Given the description of an element on the screen output the (x, y) to click on. 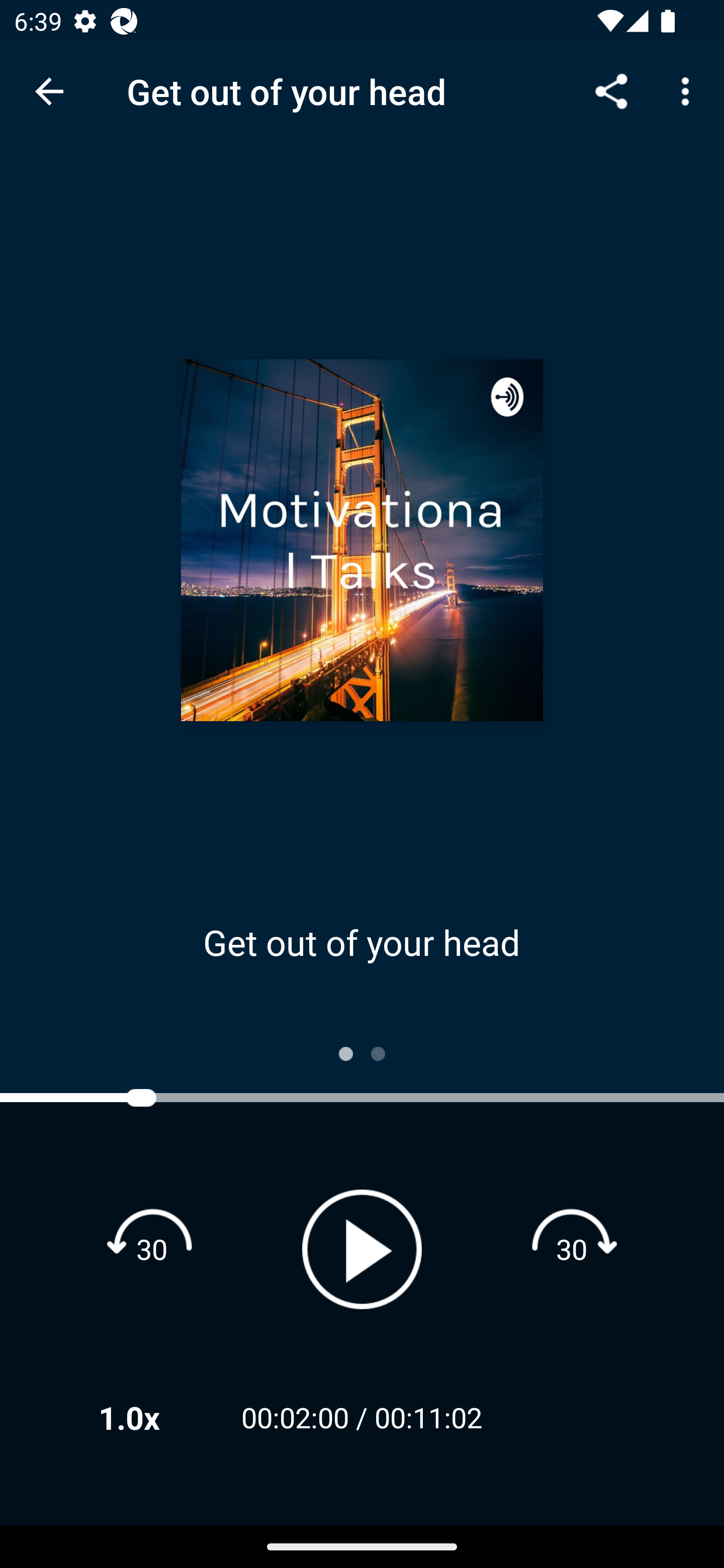
Navigate up (49, 91)
Share... (611, 90)
More options (688, 90)
Play (361, 1249)
Rewind (151, 1248)
Fast forward (571, 1248)
1.0x Playback Speeds (154, 1417)
00:11:02 (428, 1417)
